Given the description of an element on the screen output the (x, y) to click on. 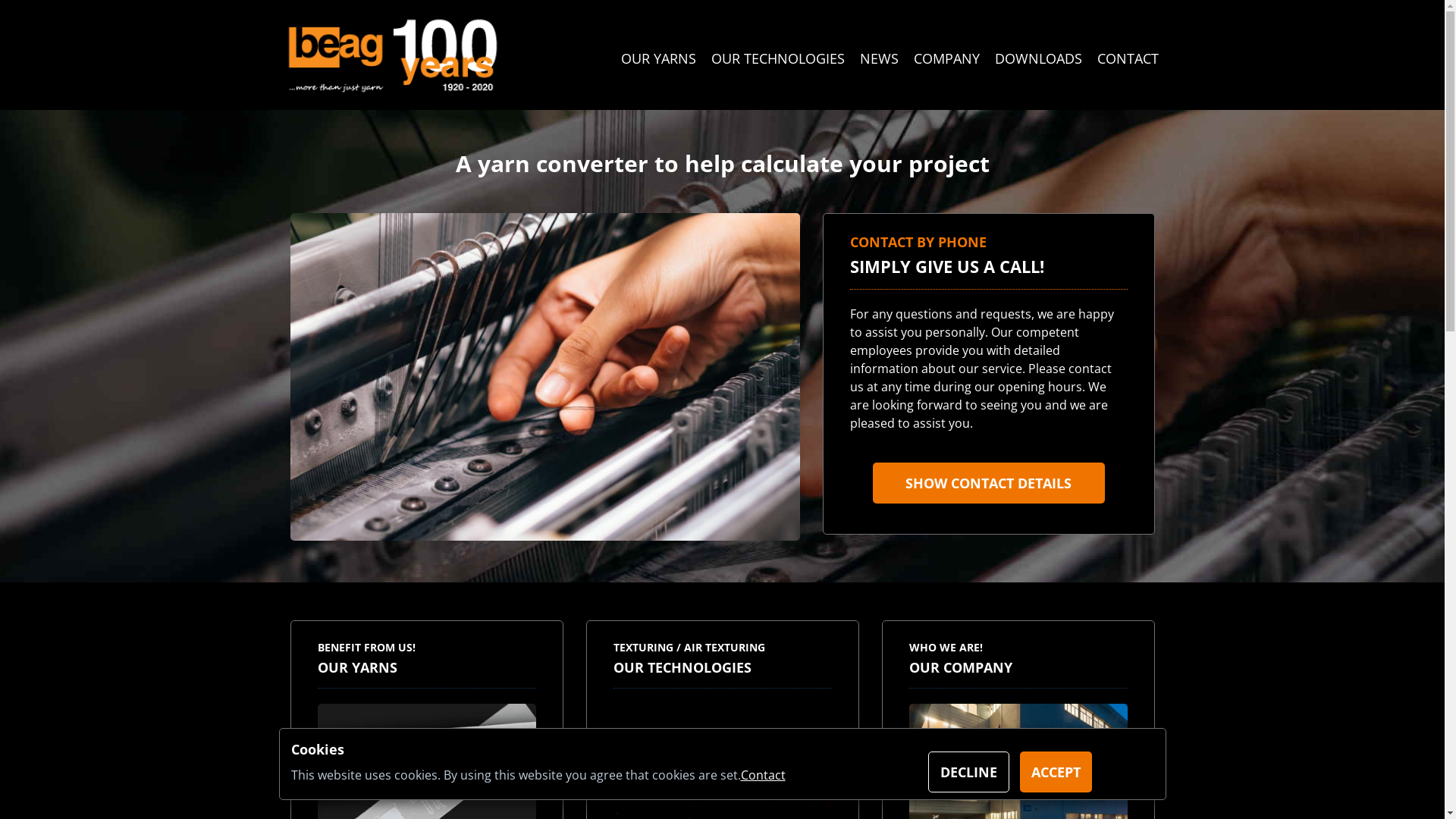
DECLINE Element type: text (968, 771)
OUR TECHNOLOGIES Element type: text (777, 57)
Contact Element type: text (762, 774)
NEWS Element type: text (878, 57)
CONTACT Element type: text (1126, 57)
OUR YARNS Element type: text (657, 57)
DOWNLOADS Element type: text (1038, 57)
COMPANY Element type: text (946, 57)
ACCEPT Element type: text (1055, 771)
SHOW CONTACT DETAILS Element type: text (988, 482)
SHOW CONTACT DETAILS Element type: text (988, 482)
